Given the description of an element on the screen output the (x, y) to click on. 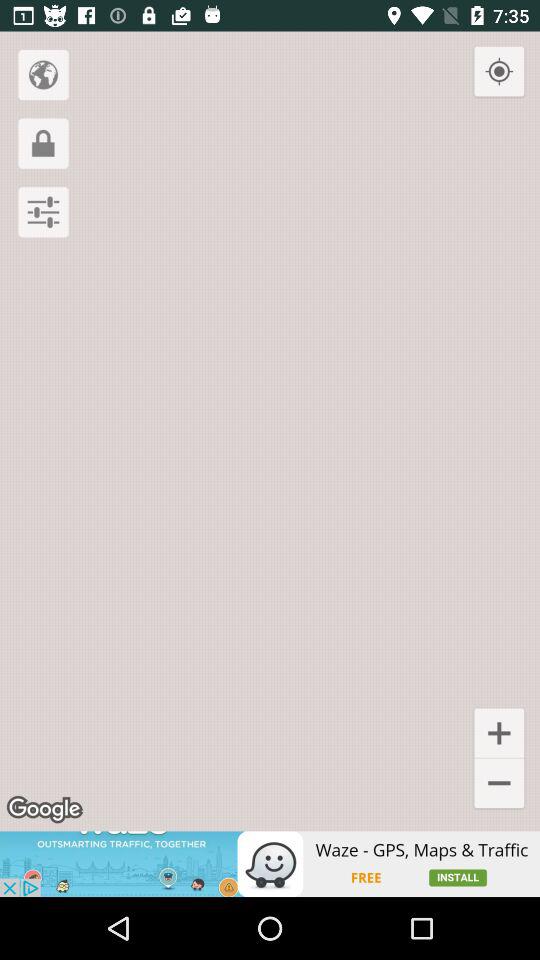
unlock (43, 143)
